Given the description of an element on the screen output the (x, y) to click on. 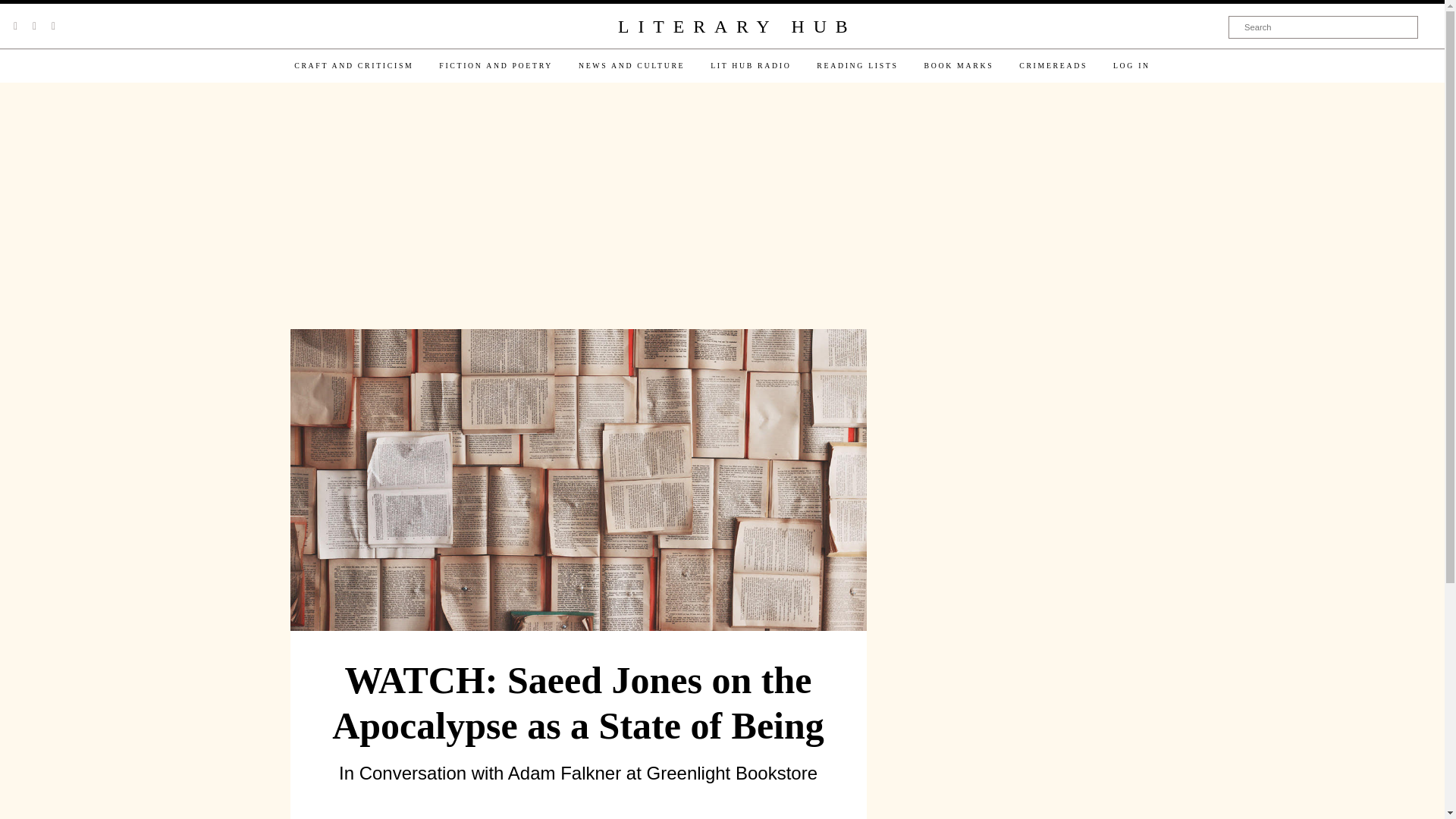
FICTION AND POETRY (496, 65)
CRAFT AND CRITICISM (353, 65)
LITERARY HUB (736, 26)
Search (1323, 26)
NEWS AND CULTURE (631, 65)
